Given the description of an element on the screen output the (x, y) to click on. 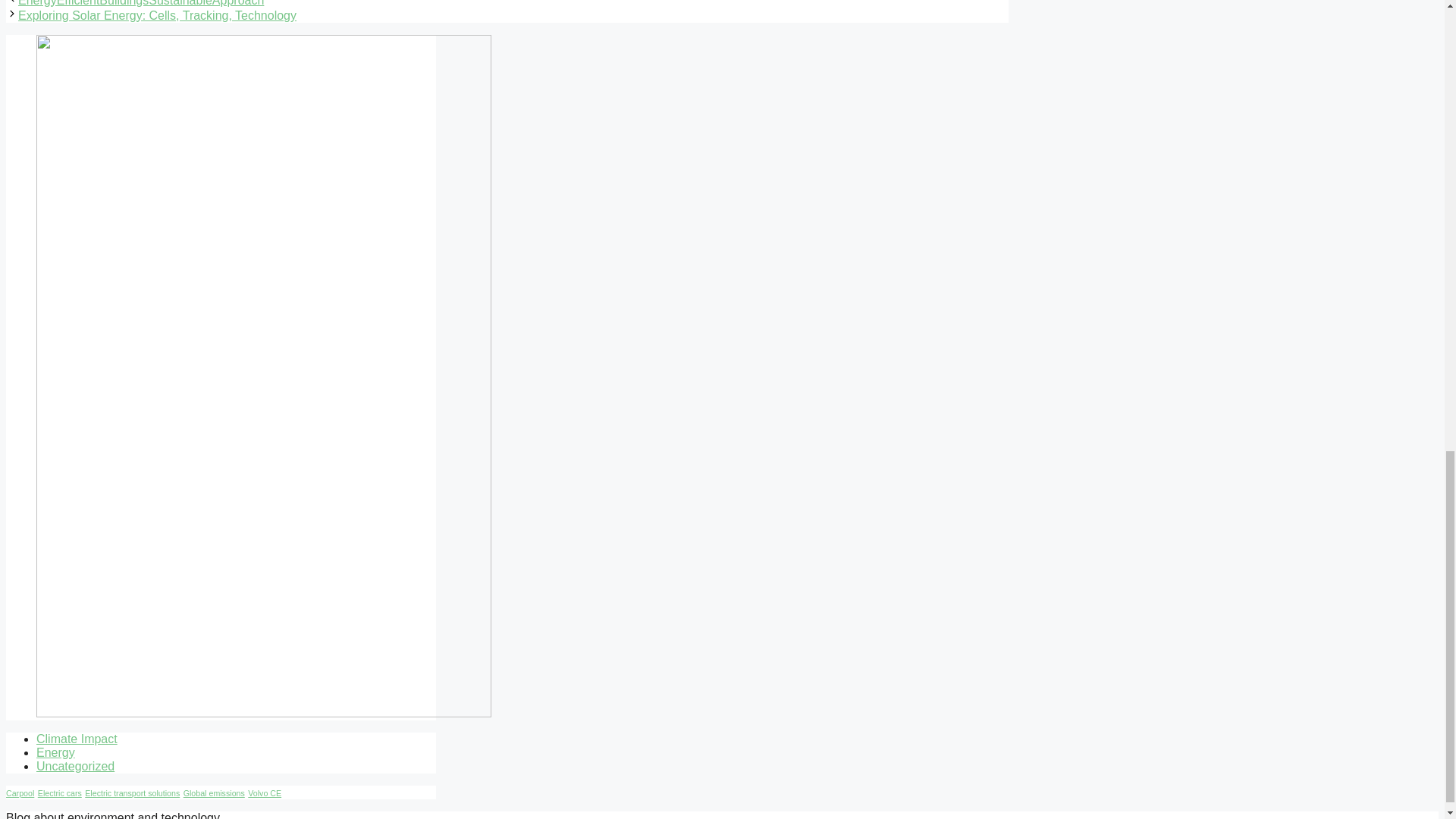
EnergyEfficientBuildingsSustainableApproach (140, 3)
Climate Impact (76, 738)
Carpool (19, 792)
Global emissions (213, 792)
Electric cars (59, 792)
Electric transport solutions (131, 792)
Volvo CE (264, 792)
Exploring Solar Energy: Cells, Tracking, Technology (157, 15)
Energy (55, 752)
Uncategorized (75, 766)
